Given the description of an element on the screen output the (x, y) to click on. 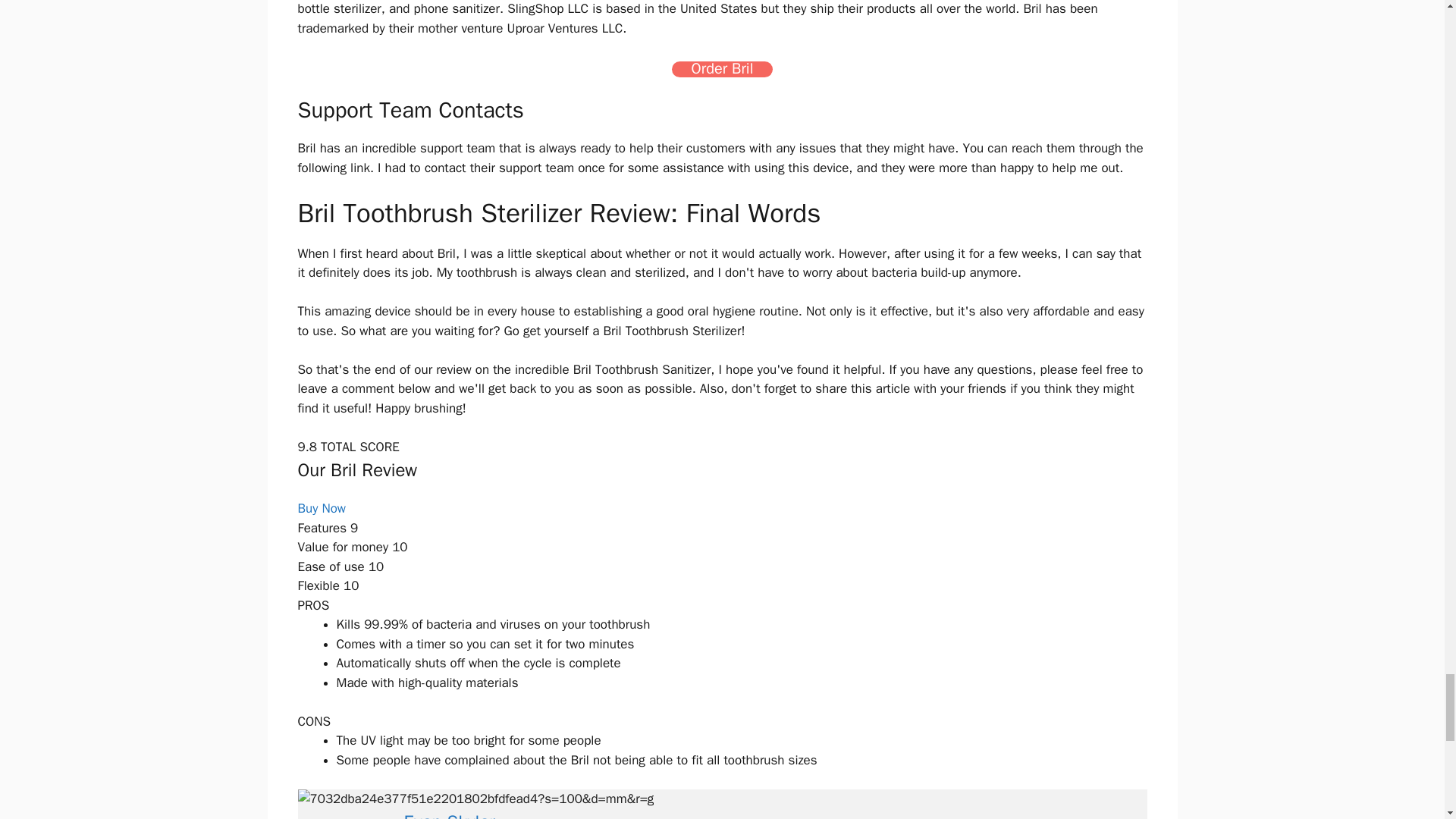
Order Bril (722, 68)
Evan Skylar (449, 814)
Buy Now (321, 508)
